Given the description of an element on the screen output the (x, y) to click on. 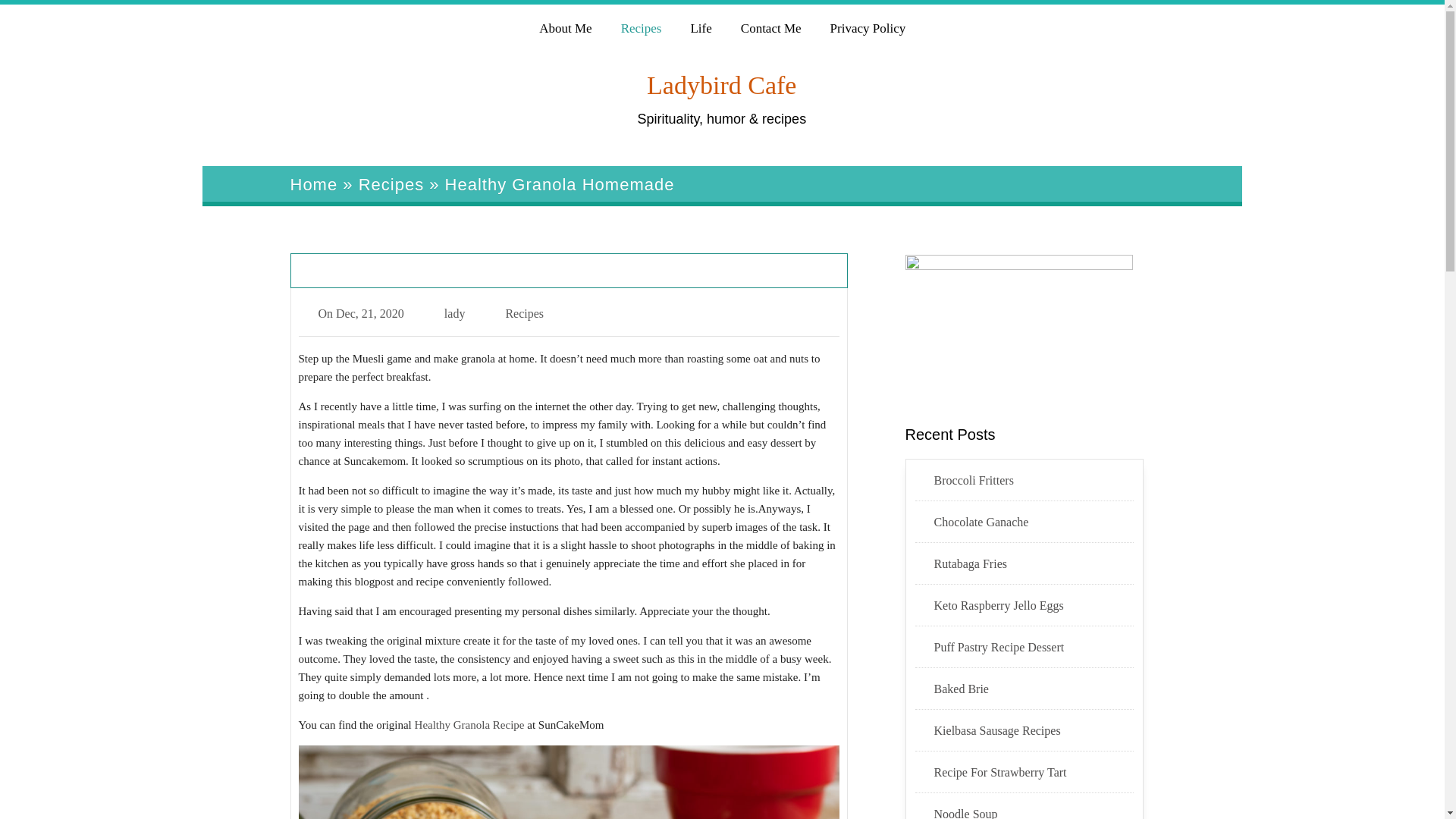
Noodle Soup (1034, 812)
Kielbasa Sausage Recipes (1034, 730)
Puff Pastry Recipe Dessert (1034, 647)
Contact Me (769, 26)
Home (313, 184)
Healthy Granola Recipe (469, 725)
Privacy Policy (867, 26)
Recipes (640, 26)
Keto Raspberry Jello Eggs (1034, 606)
lady (454, 313)
Rutabaga Fries (1034, 564)
Ladybird Cafe (721, 85)
Ladybird Cafe (721, 85)
About Me (564, 26)
Broccoli Fritters (1034, 480)
